Given the description of an element on the screen output the (x, y) to click on. 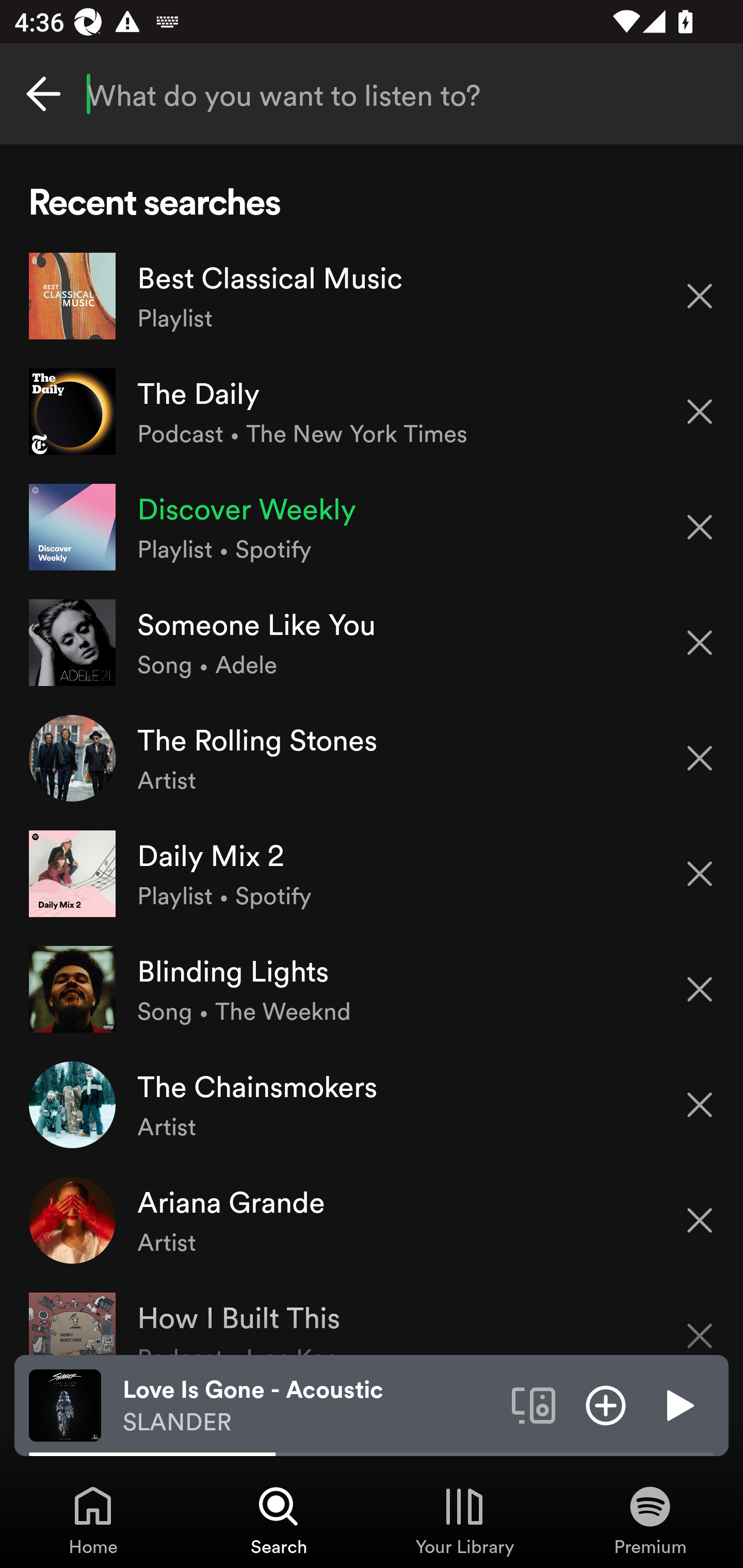
What do you want to listen to? (371, 93)
Cancel (43, 93)
Best Classical Music Playlist Remove (371, 296)
Remove (699, 295)
The Daily Podcast • The New York Times Remove (371, 411)
Remove (699, 411)
Discover Weekly Playlist • Spotify Remove (371, 526)
Remove (699, 527)
Someone Like You Song • Adele Remove (371, 642)
Remove (699, 642)
The Rolling Stones Artist Remove (371, 757)
Remove (699, 758)
Daily Mix 2 Playlist • Spotify Remove (371, 873)
Remove (699, 874)
Blinding Lights Song • The Weeknd Remove (371, 989)
Remove (699, 989)
The Chainsmokers Artist Remove (371, 1104)
Remove (699, 1104)
Ariana Grande Artist Remove (371, 1219)
Remove (699, 1220)
How I Built This Podcast • Ivan Kan Remove (371, 1315)
Remove (699, 1323)
Love Is Gone - Acoustic SLANDER (309, 1405)
The cover art of the currently playing track (64, 1404)
Connect to a device. Opens the devices menu (533, 1404)
Add item (605, 1404)
Play (677, 1404)
Home, Tab 1 of 4 Home Home (92, 1519)
Search, Tab 2 of 4 Search Search (278, 1519)
Your Library, Tab 3 of 4 Your Library Your Library (464, 1519)
Premium, Tab 4 of 4 Premium Premium (650, 1519)
